Given the description of an element on the screen output the (x, y) to click on. 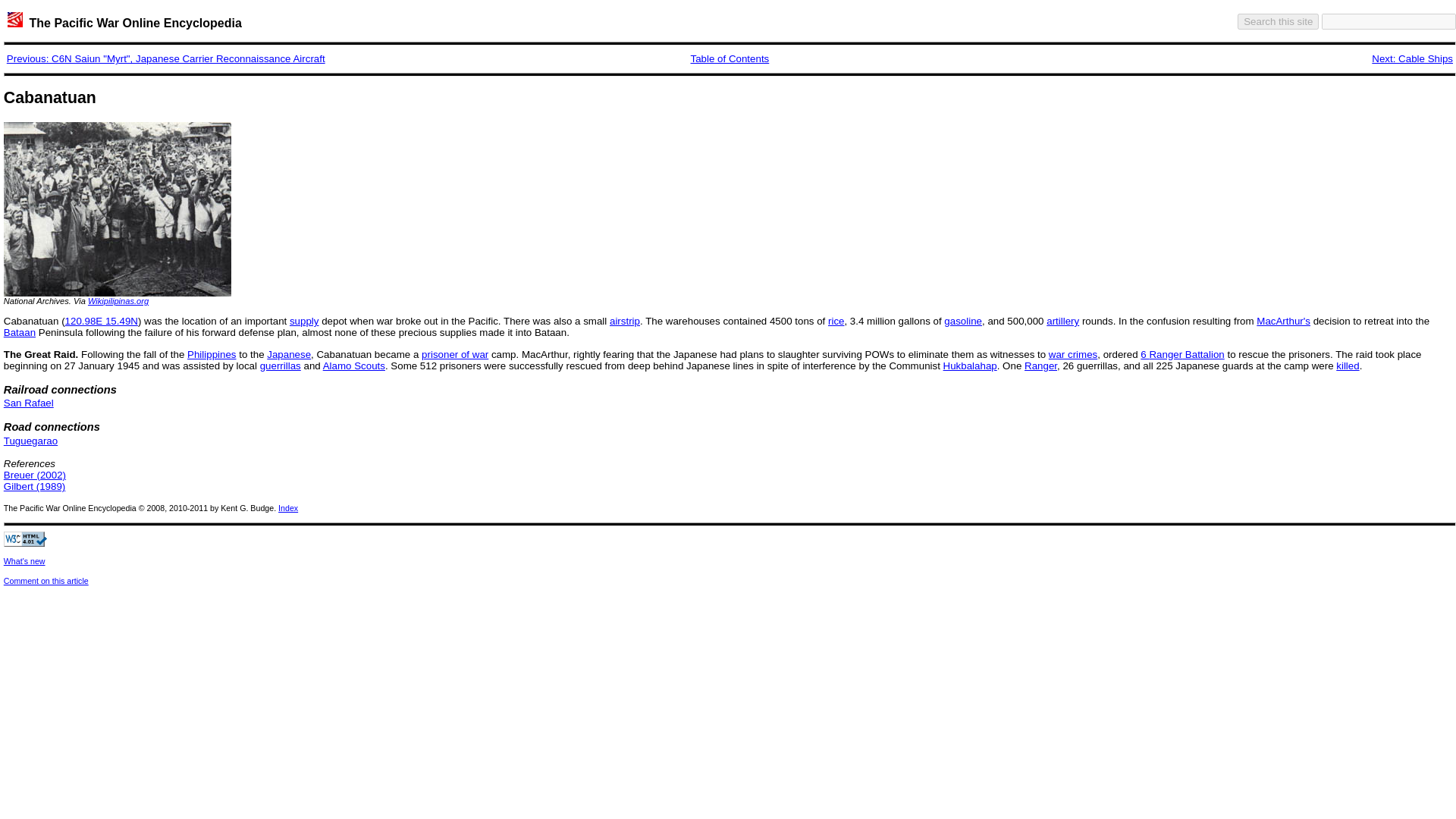
Bataan (19, 332)
artillery (1062, 320)
Wikipilipinas.org (117, 300)
supply (303, 320)
rice (836, 320)
killed (1347, 365)
Search this site (1278, 21)
prisoner of war (454, 354)
Index (288, 507)
Table of Contents (730, 58)
